Given the description of an element on the screen output the (x, y) to click on. 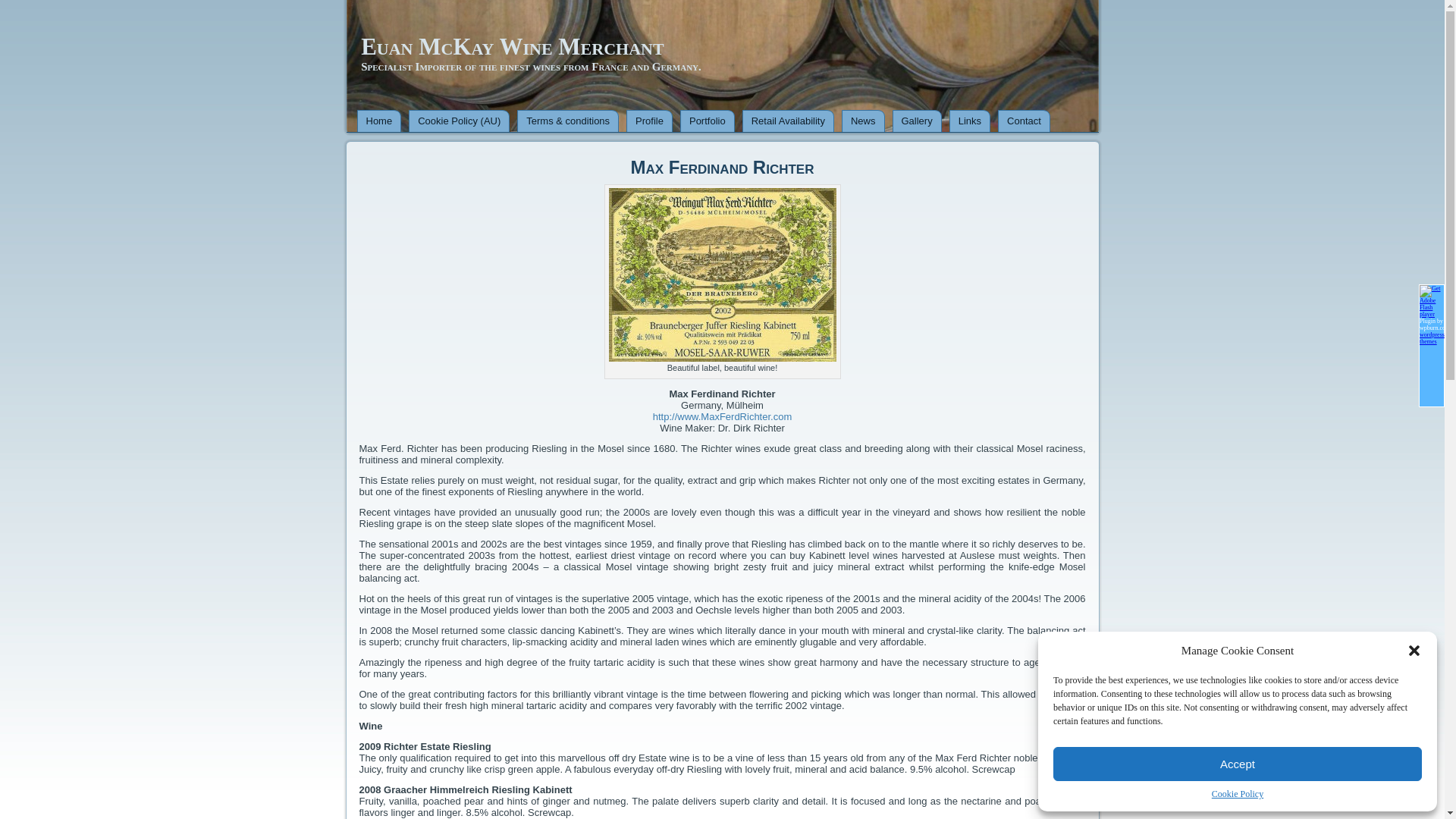
Accept Element type: text (1237, 763)
wordpress themes Element type: text (1431, 338)
Euan McKay Wine Merchant Element type: text (511, 46)
Beautiful label, beautiful wine! Element type: hover (721, 274)
Cookie Policy Element type: text (1237, 794)
Links Element type: text (969, 120)
Terms & conditions Element type: text (567, 120)
Cookie Policy (AU) Element type: text (458, 120)
http://www.MaxFerdRichter.com Element type: text (722, 416)
News Element type: text (862, 120)
Retail Availability Element type: text (788, 120)
Profile Element type: text (649, 120)
Contact Element type: text (1023, 120)
Portfolio Element type: text (707, 120)
Home Element type: text (378, 120)
Gallery Element type: text (916, 120)
